Given the description of an element on the screen output the (x, y) to click on. 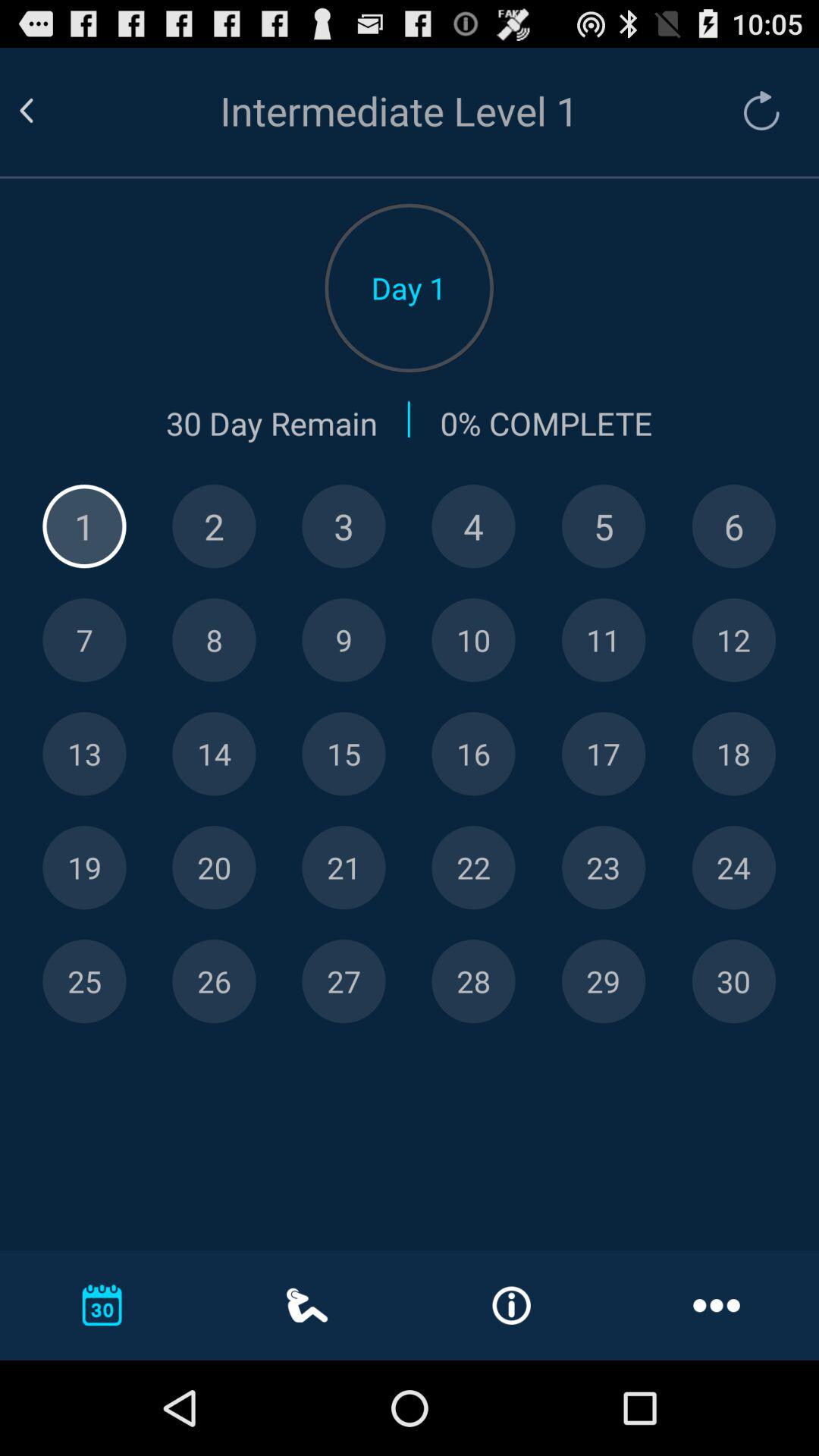
twenty-seven number (343, 981)
